Given the description of an element on the screen output the (x, y) to click on. 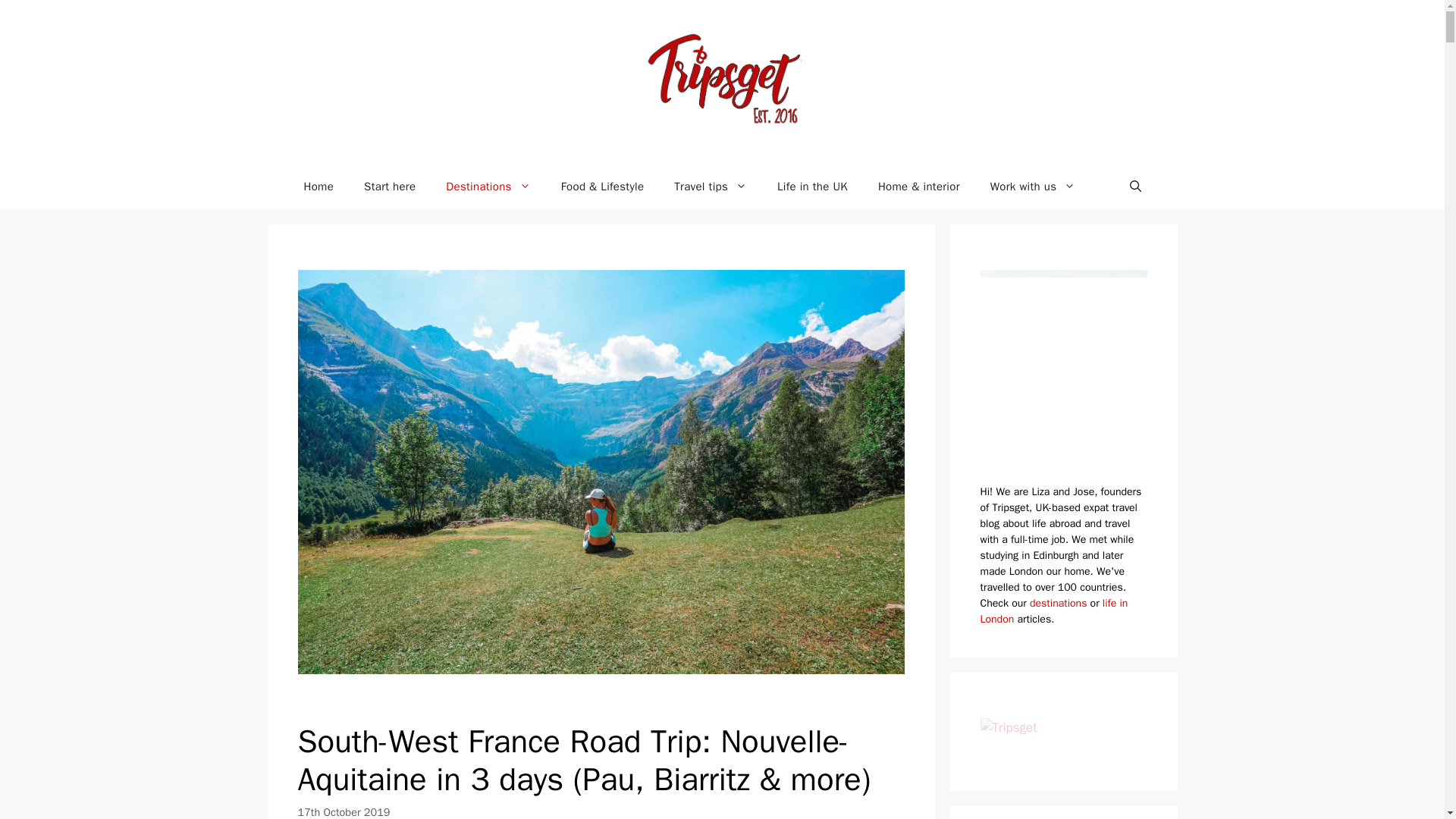
Home (318, 186)
Start here (389, 186)
Travel tips (710, 186)
Destinations (487, 186)
